Given the description of an element on the screen output the (x, y) to click on. 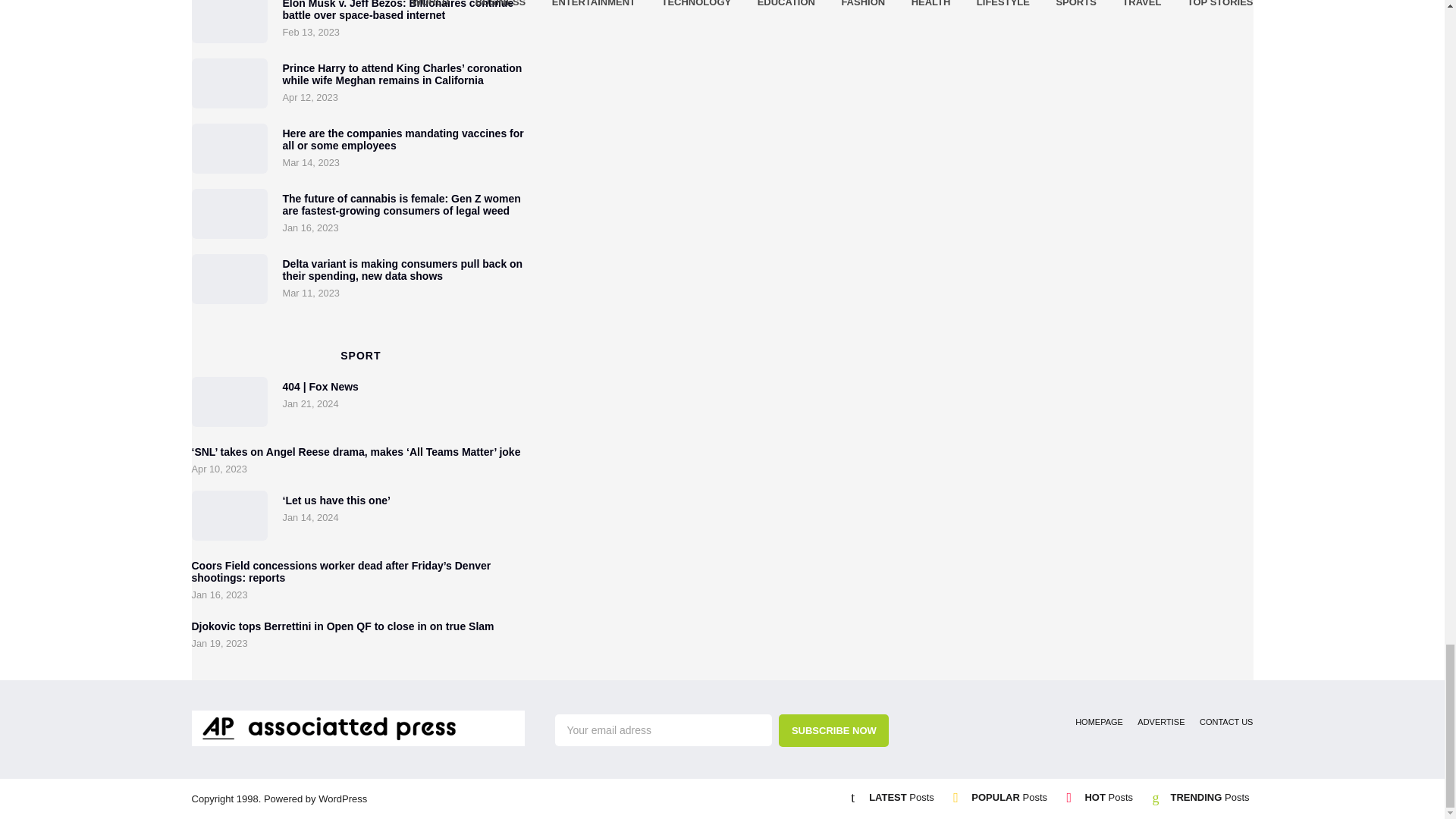
Subscribe Now (833, 730)
